Given the description of an element on the screen output the (x, y) to click on. 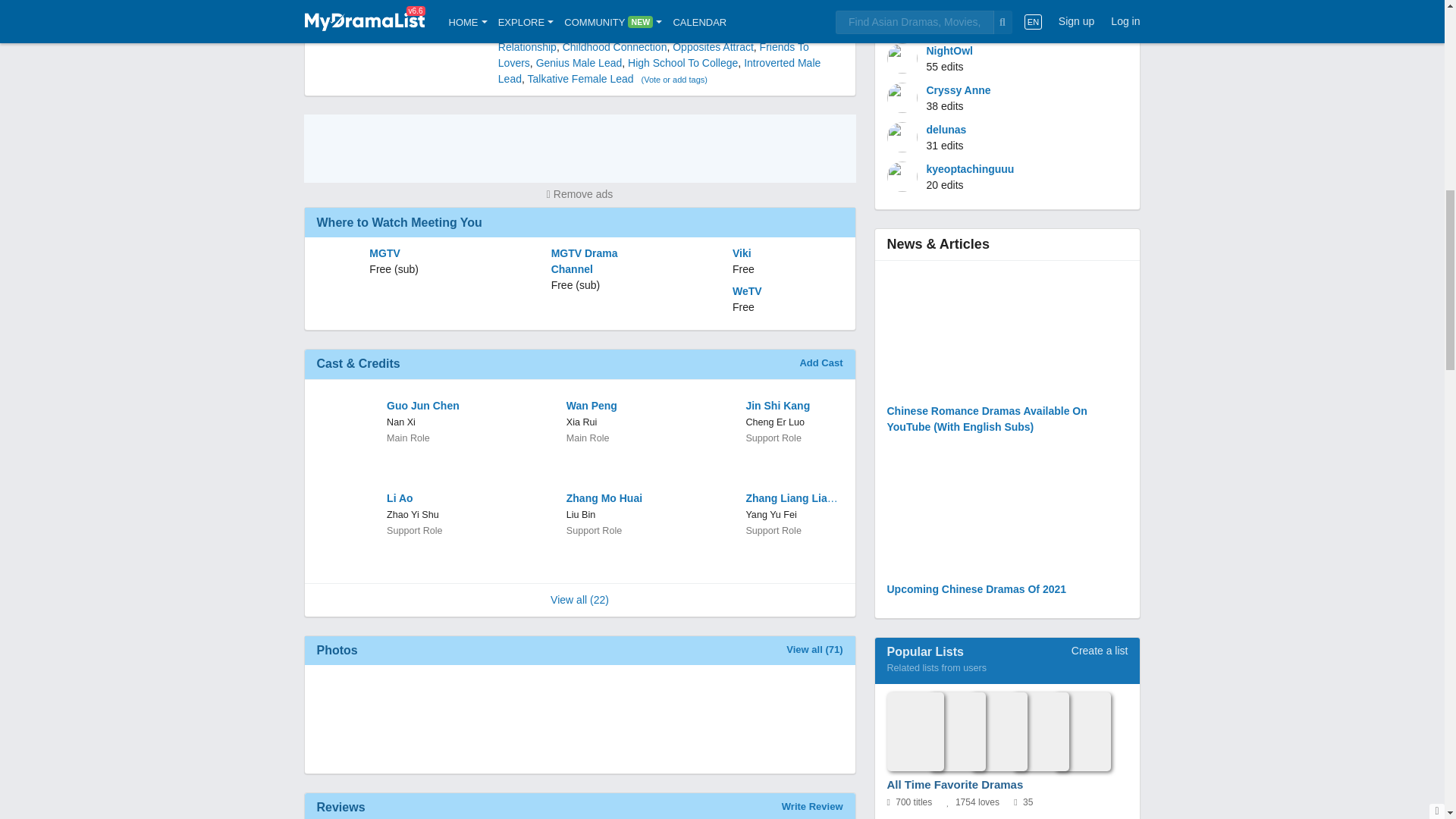
Jin Shi Kang (792, 406)
Zhao Yi Shu (413, 514)
Wan Peng (613, 406)
Li Ao (433, 498)
Cheng Er Luo (775, 421)
Guo Jun Chen (433, 406)
Nan Xi (400, 421)
Xia Rui (581, 421)
Zhang Mo Huai (613, 498)
